Given the description of an element on the screen output the (x, y) to click on. 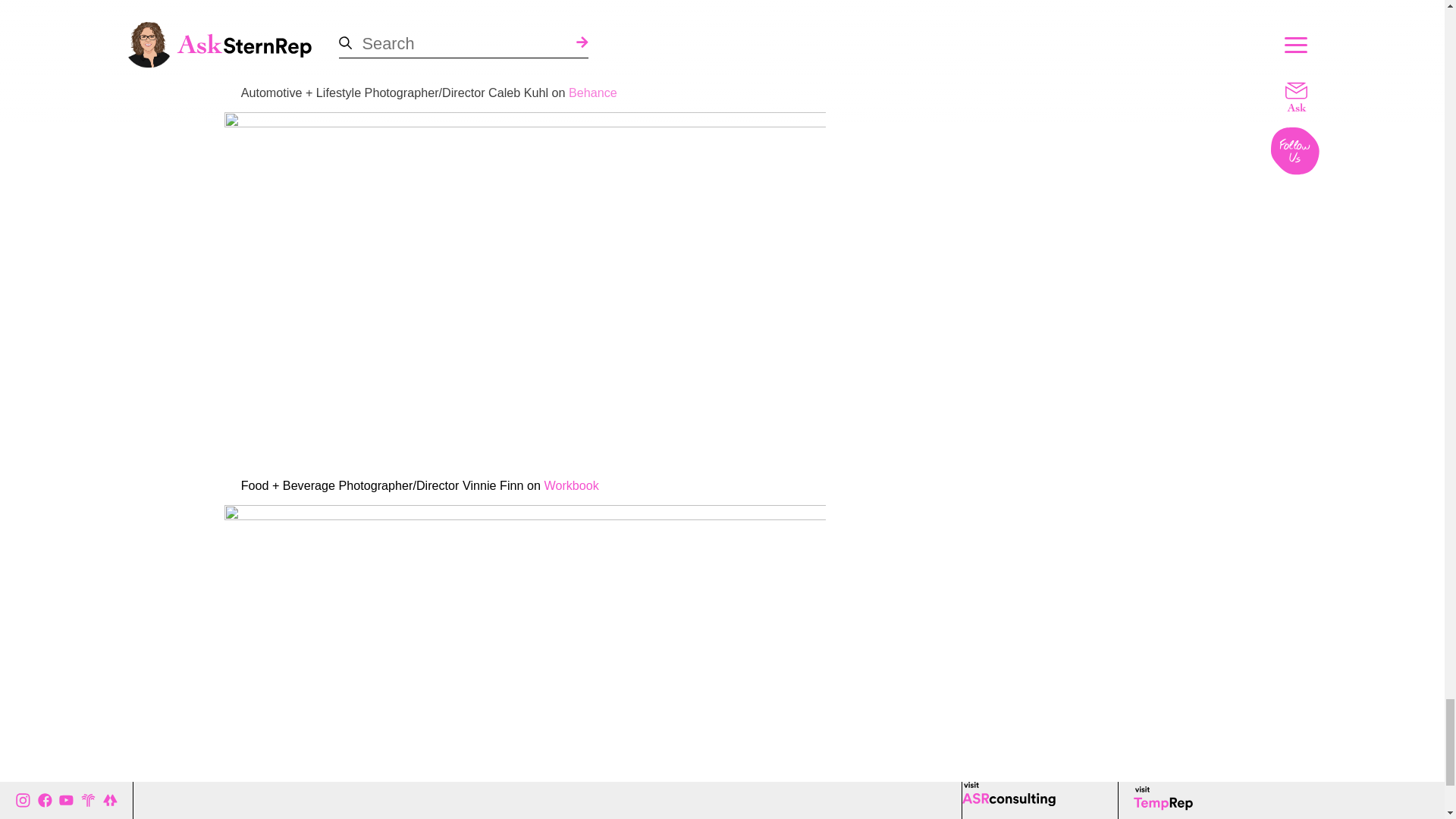
Workbook (570, 485)
Behance (593, 92)
